Given the description of an element on the screen output the (x, y) to click on. 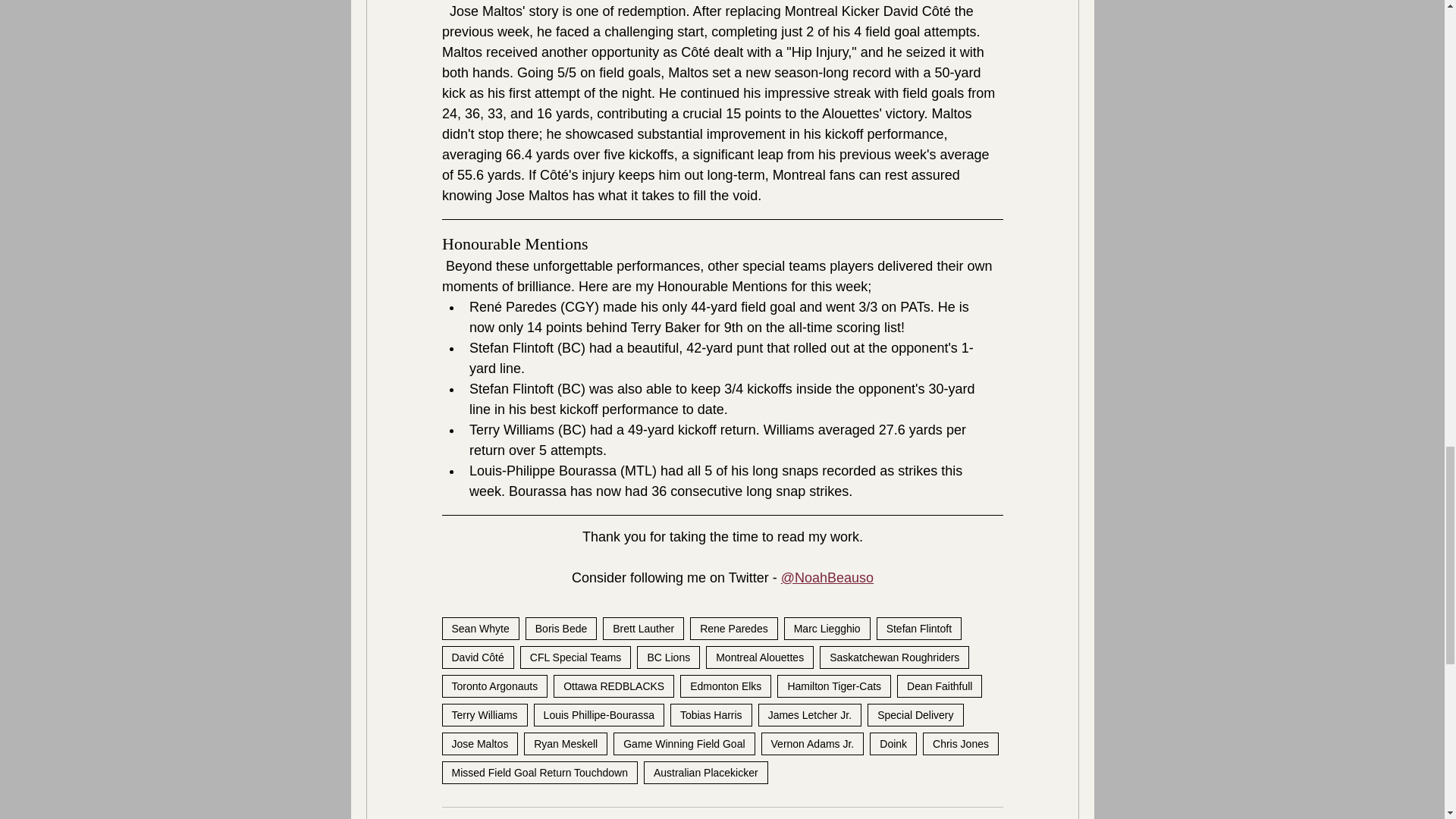
Edmonton Elks (725, 685)
Sean Whyte (479, 628)
Toronto Argonauts (494, 685)
Rene Paredes (733, 628)
Stefan Flintoft (918, 628)
Ottawa REDBLACKS (613, 685)
Saskatchewan Roughriders (894, 657)
Brett Lauther (643, 628)
BC Lions (668, 657)
Marc Liegghio (827, 628)
CFL Special Teams (575, 657)
Montreal Alouettes (759, 657)
Boris Bede (560, 628)
